Given the description of an element on the screen output the (x, y) to click on. 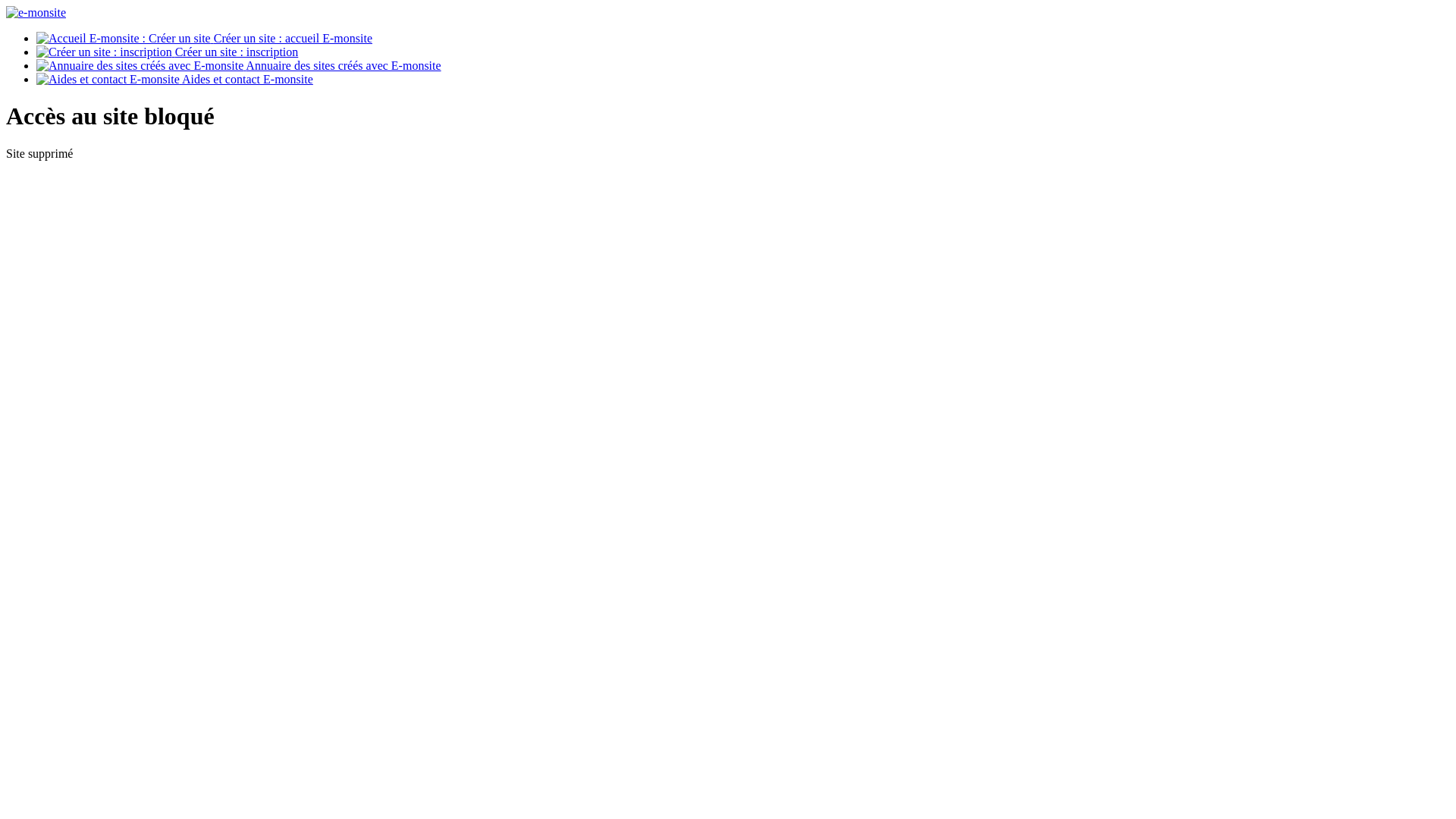
Aides et contact E-monsite Element type: text (174, 78)
